Given the description of an element on the screen output the (x, y) to click on. 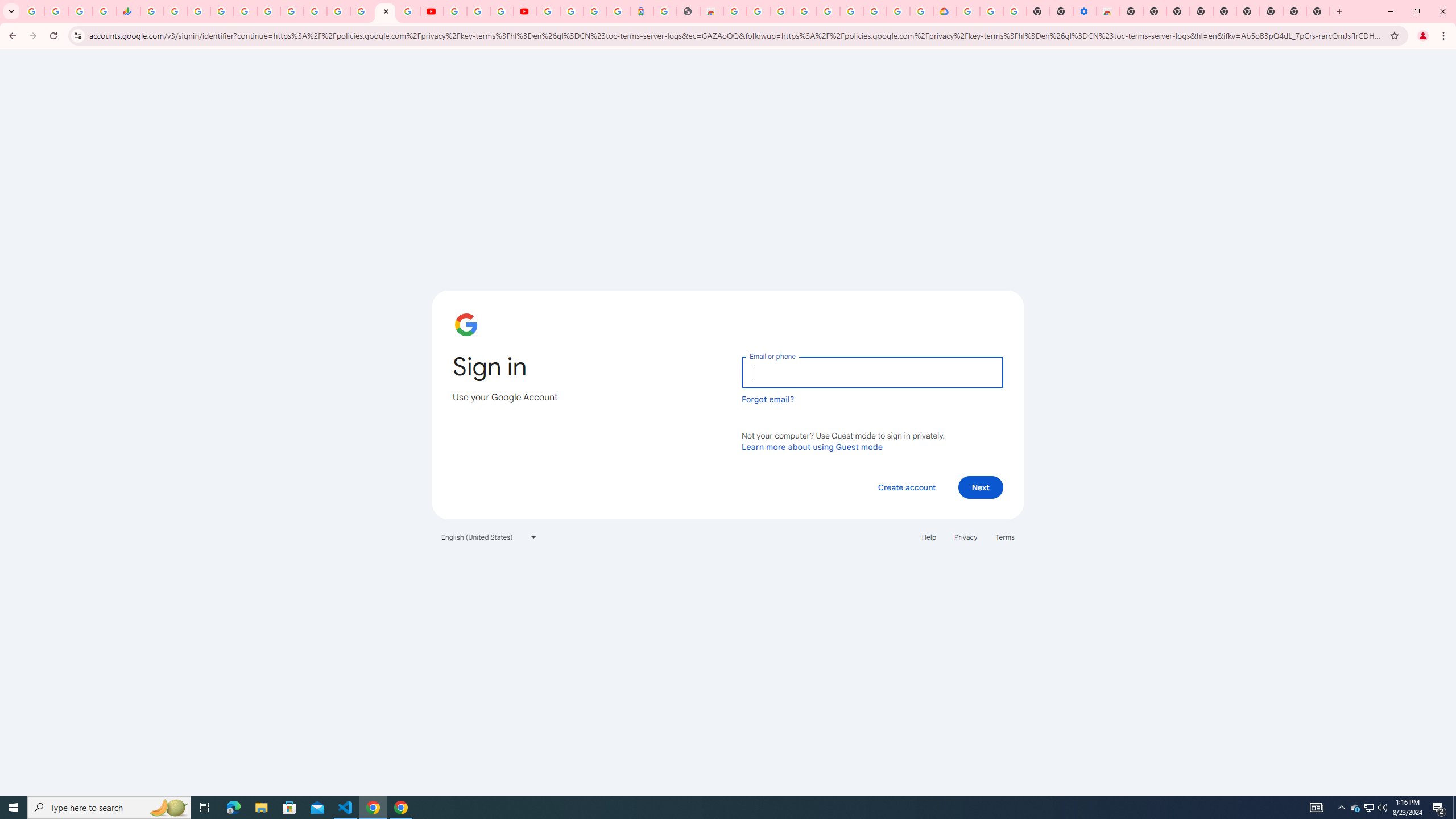
Android TV Policies and Guidelines - Transparency Center (291, 11)
Sign in - Google Accounts (338, 11)
Settings - Accessibility (1085, 11)
New Tab (1131, 11)
